Given the description of an element on the screen output the (x, y) to click on. 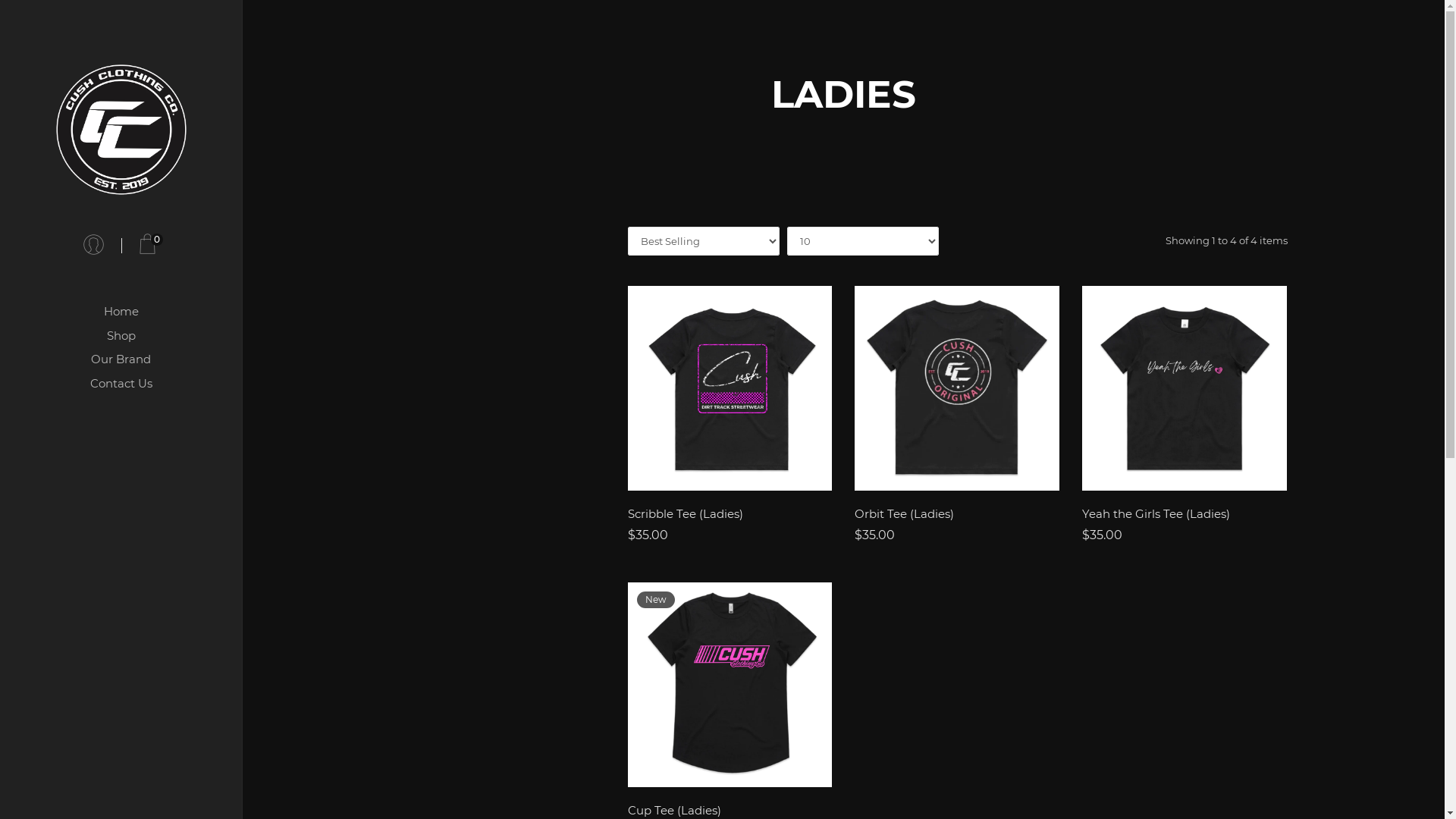
Home Element type: text (120, 311)
Shop Element type: text (120, 335)
Scribble Tee (Ladies) Element type: text (729, 516)
Our Brand Element type: text (120, 359)
Yeah the Girls Tee (Ladies) Element type: text (1184, 516)
Orbit Tee (Ladies) Element type: text (956, 516)
Contact Us Element type: text (120, 383)
Cush Clothing Co. on Facebook Element type: hover (115, 751)
